Given the description of an element on the screen output the (x, y) to click on. 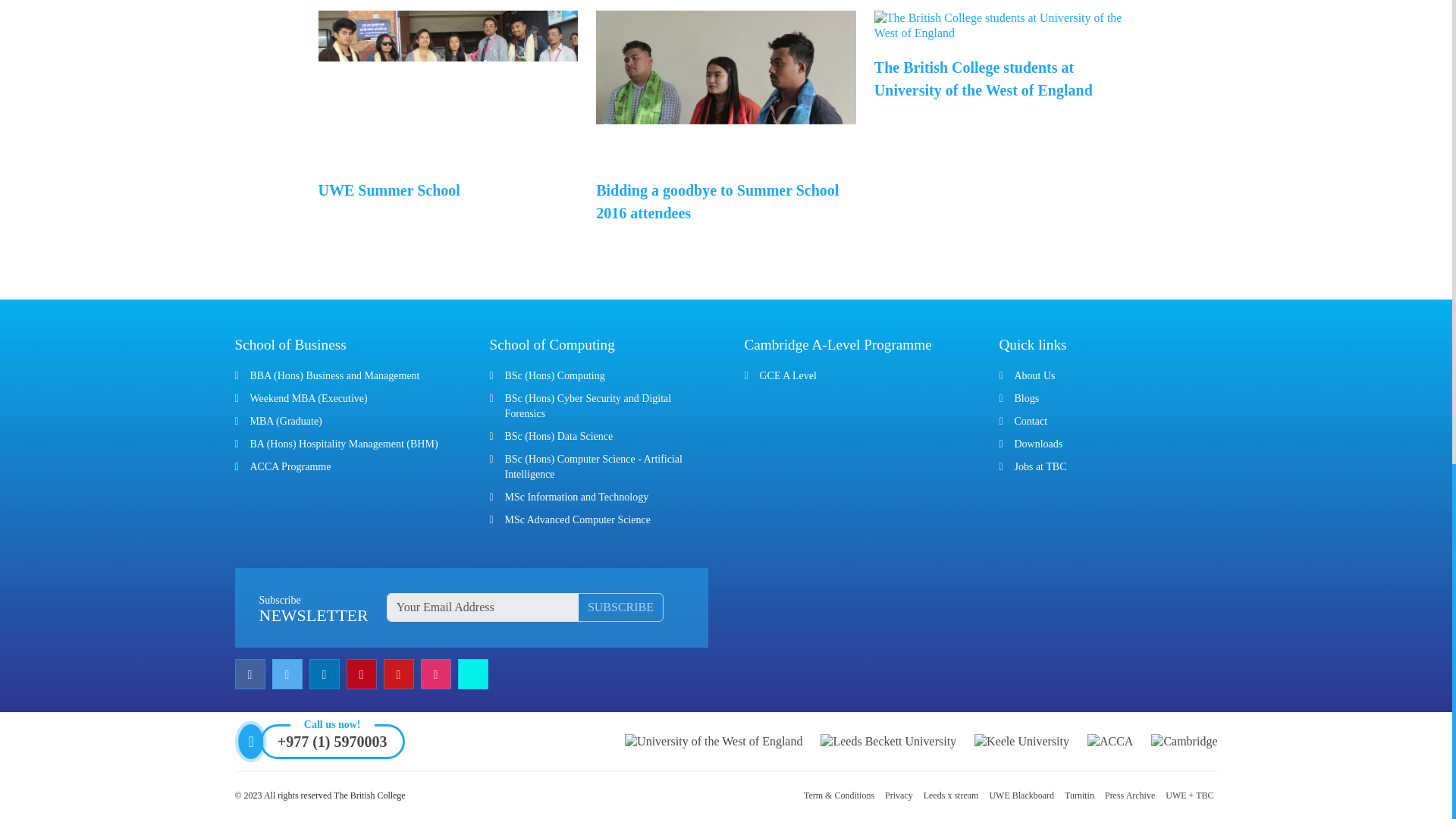
Linkedin (325, 674)
GCE A Level (788, 375)
Bidding a goodbye to Summer School 2016 attendees (716, 201)
Twitter (287, 674)
UWE Summer School (389, 190)
Downloads (1038, 443)
About Us (1034, 375)
Instagram (437, 674)
MSc Advanced Computer Science (577, 519)
